Given the description of an element on the screen output the (x, y) to click on. 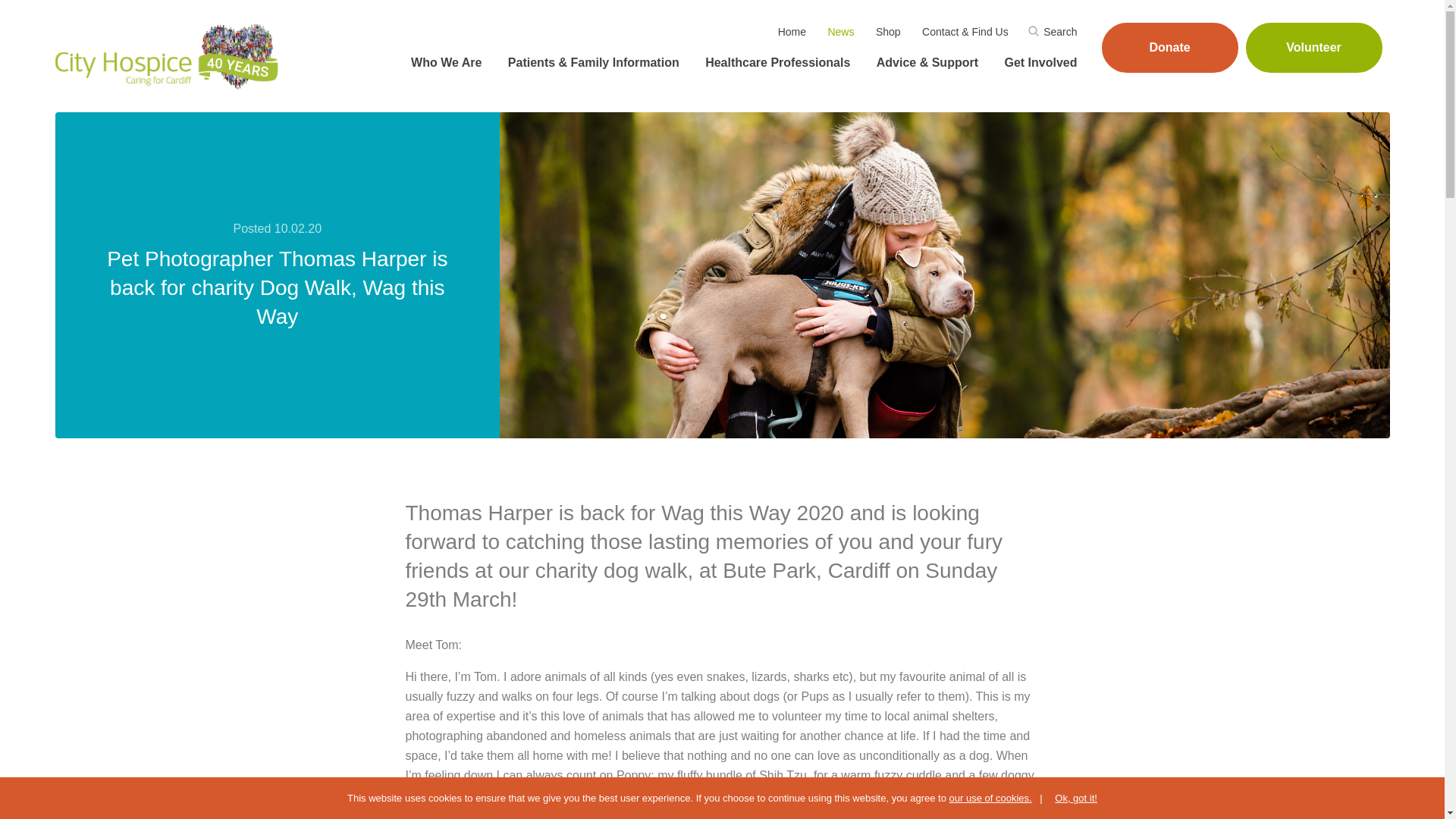
our use of cookies. (990, 797)
Who We Are (443, 62)
Donate (1168, 47)
Volunteer (1312, 47)
City Hospice (168, 55)
Ok, got it! (1068, 797)
